Given the description of an element on the screen output the (x, y) to click on. 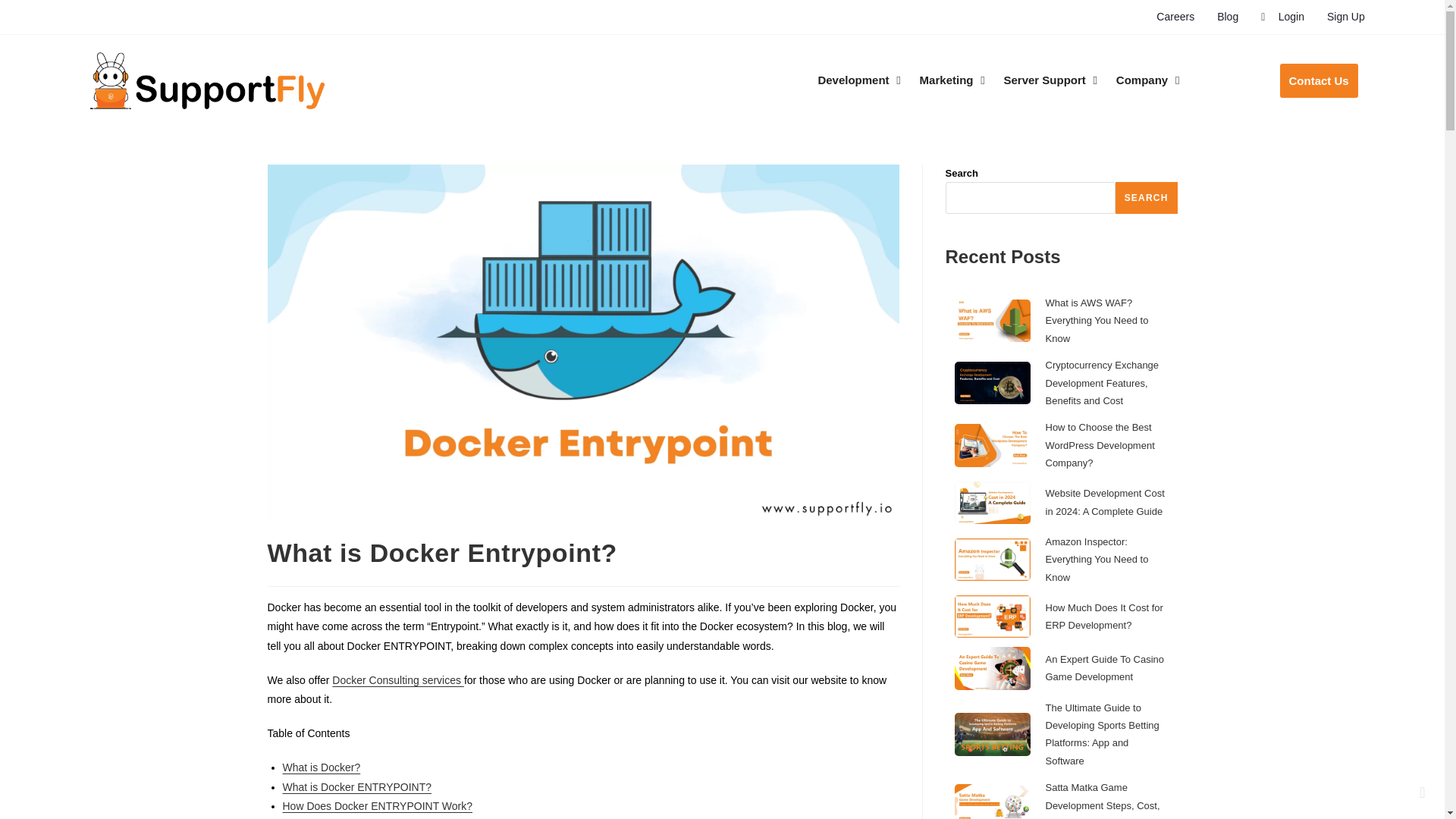
Blog (1228, 16)
Careers (1174, 16)
Login (1282, 16)
Sign Up (1345, 16)
